Given the description of an element on the screen output the (x, y) to click on. 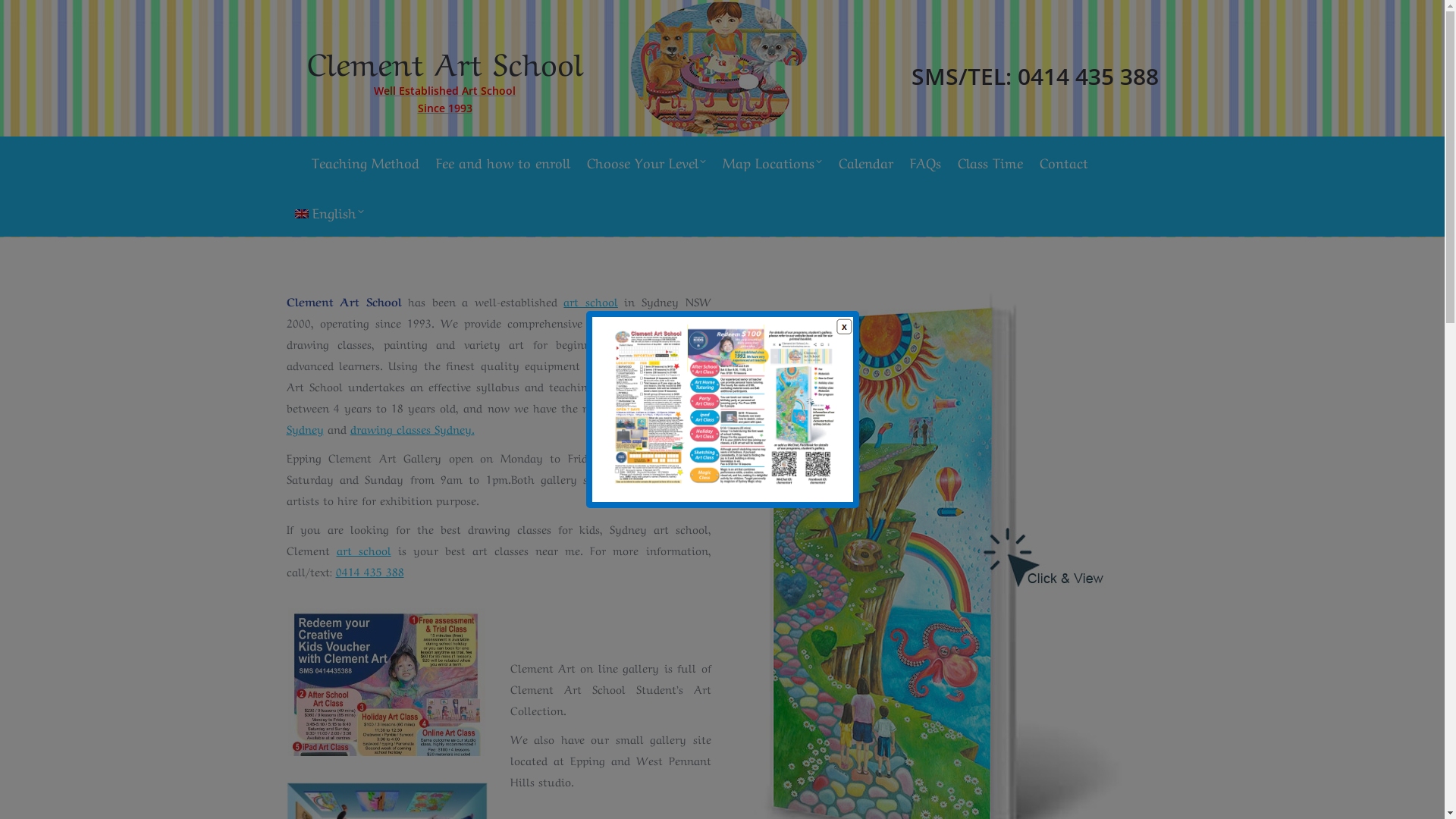
Featured-Home News Element type: hover (386, 682)
Choose Your Level Element type: text (646, 161)
art school Element type: text (590, 300)
Class Time Element type: text (989, 161)
Since 1993 Element type: text (444, 107)
drawing classes Sydney. Element type: text (412, 428)
art classes Sydney Element type: text (498, 417)
Teaching Method Element type: text (364, 161)
Well Established Art School Element type: text (444, 90)
Contact Element type: text (1062, 161)
FAQs Element type: text (925, 161)
English Element type: text (328, 211)
art school Element type: text (363, 549)
0414 435 388 Element type: text (369, 570)
Calendar Element type: text (865, 161)
Fee and how to enroll Element type: text (502, 161)
Map Locations Element type: text (771, 161)
